Given the description of an element on the screen output the (x, y) to click on. 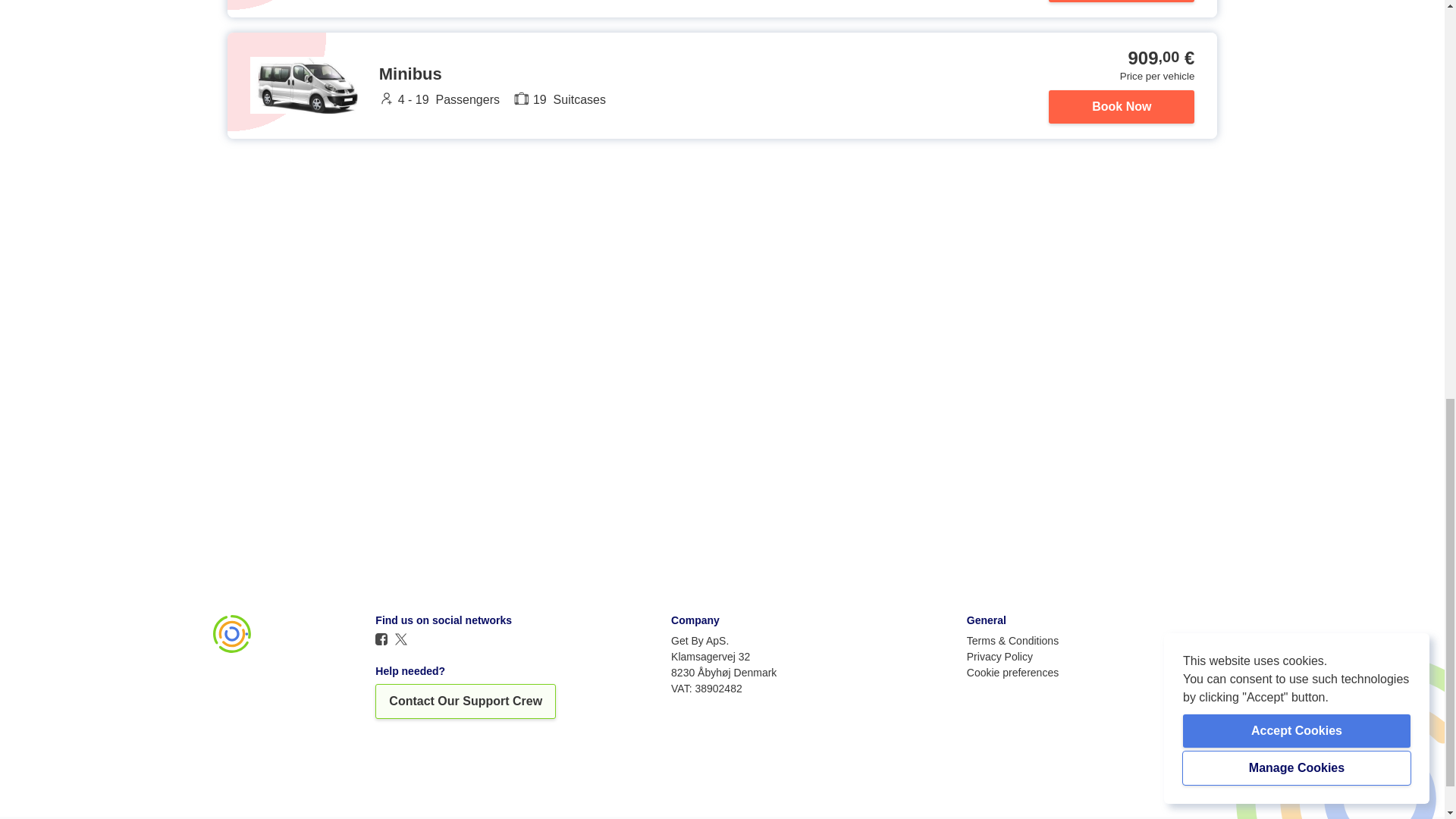
Cookie preferences (1012, 671)
Book Now (1120, 0)
Privacy Policy (999, 656)
Book Now (1120, 105)
Contact Our Support Crew (465, 701)
